Given the description of an element on the screen output the (x, y) to click on. 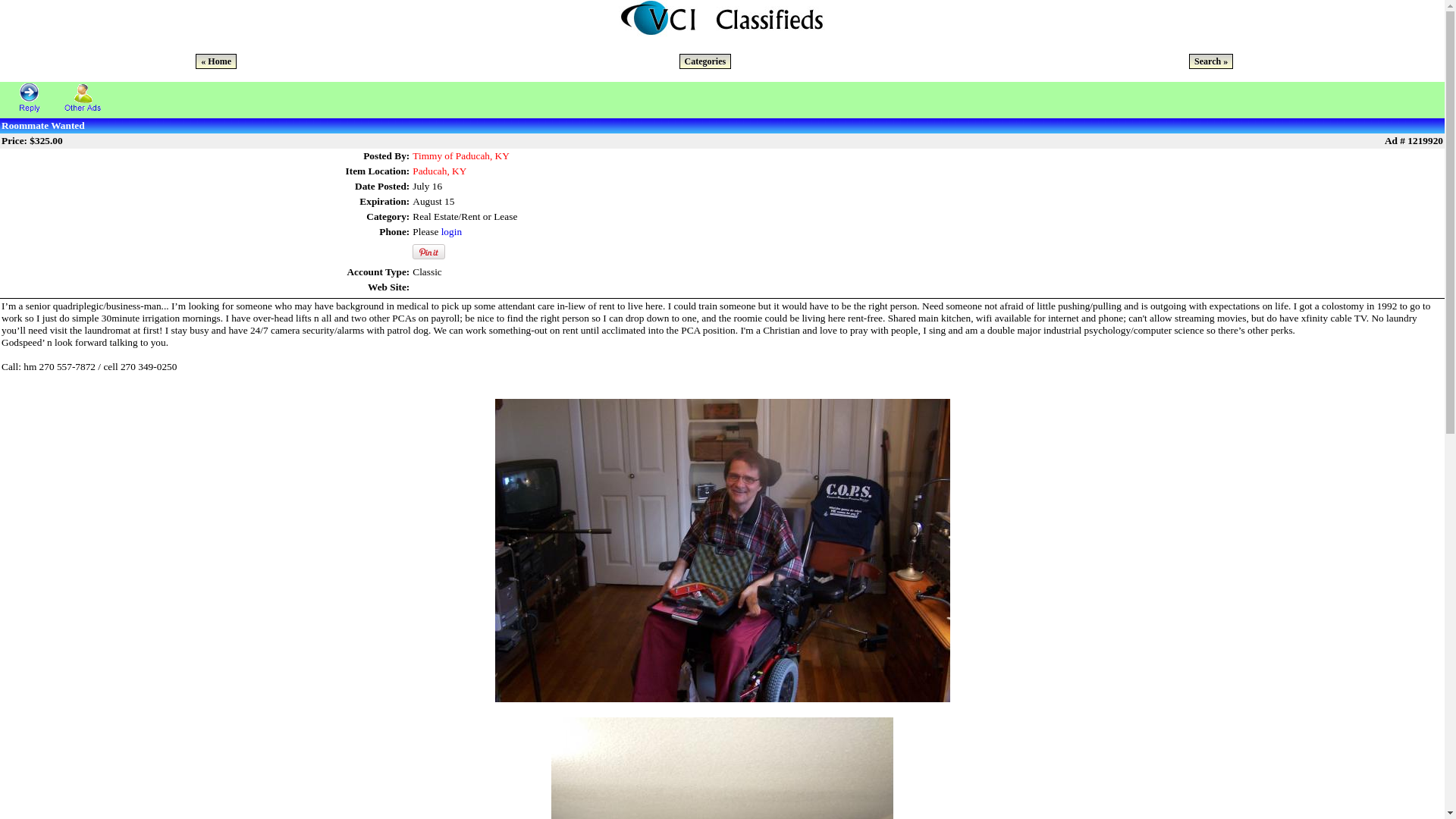
Categories (705, 61)
login (451, 231)
Pin It (428, 252)
